Given the description of an element on the screen output the (x, y) to click on. 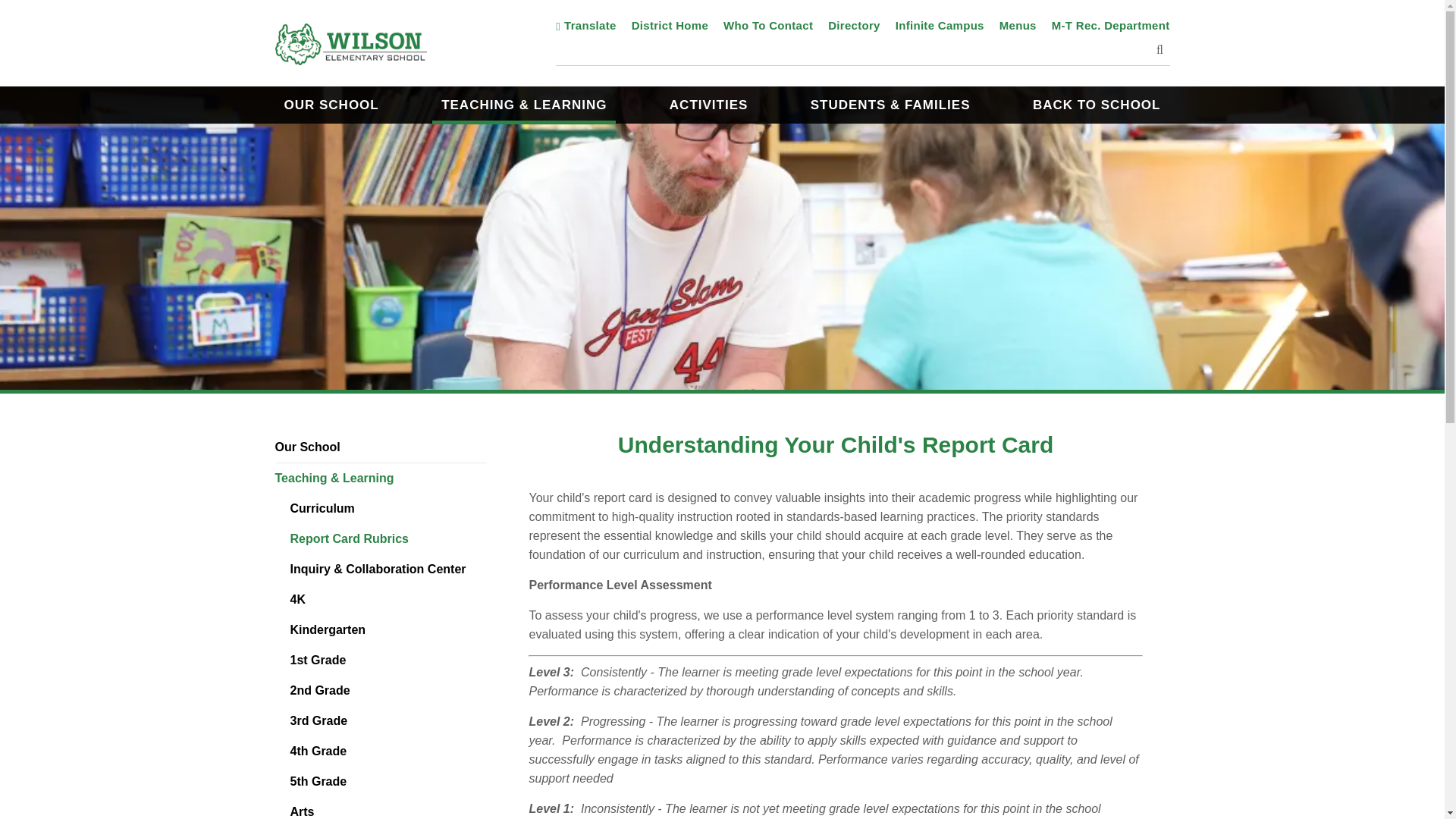
Menus (1017, 25)
Directory (854, 25)
District Home (669, 25)
OUR SCHOOL (331, 104)
search (862, 50)
Translate (585, 25)
